Given the description of an element on the screen output the (x, y) to click on. 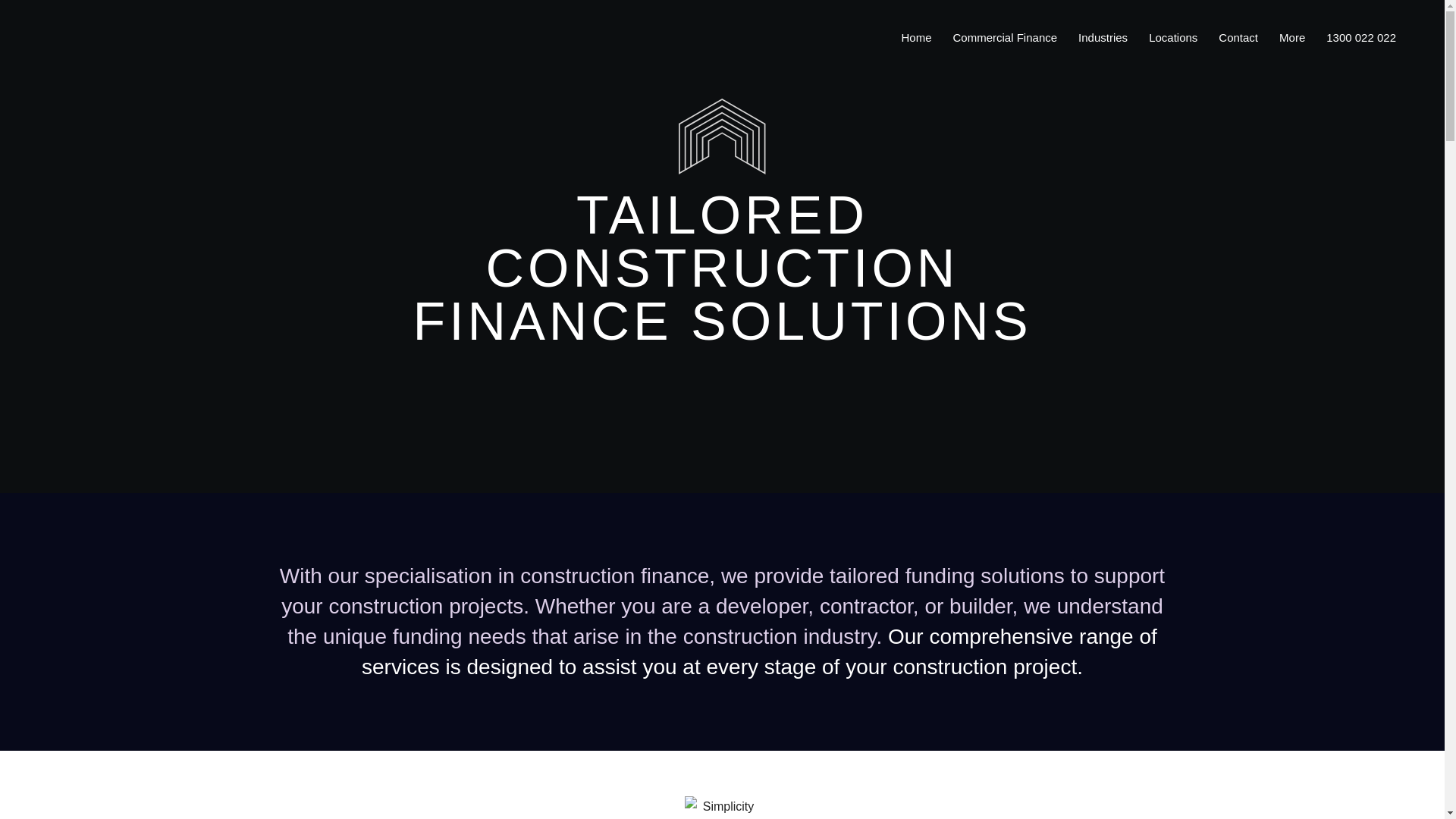
Industries (1102, 37)
Locations (1173, 37)
More (1292, 37)
Commercial Finance (1005, 37)
Contact (1238, 37)
Home (916, 37)
1300 022 022 (1361, 37)
